Given the description of an element on the screen output the (x, y) to click on. 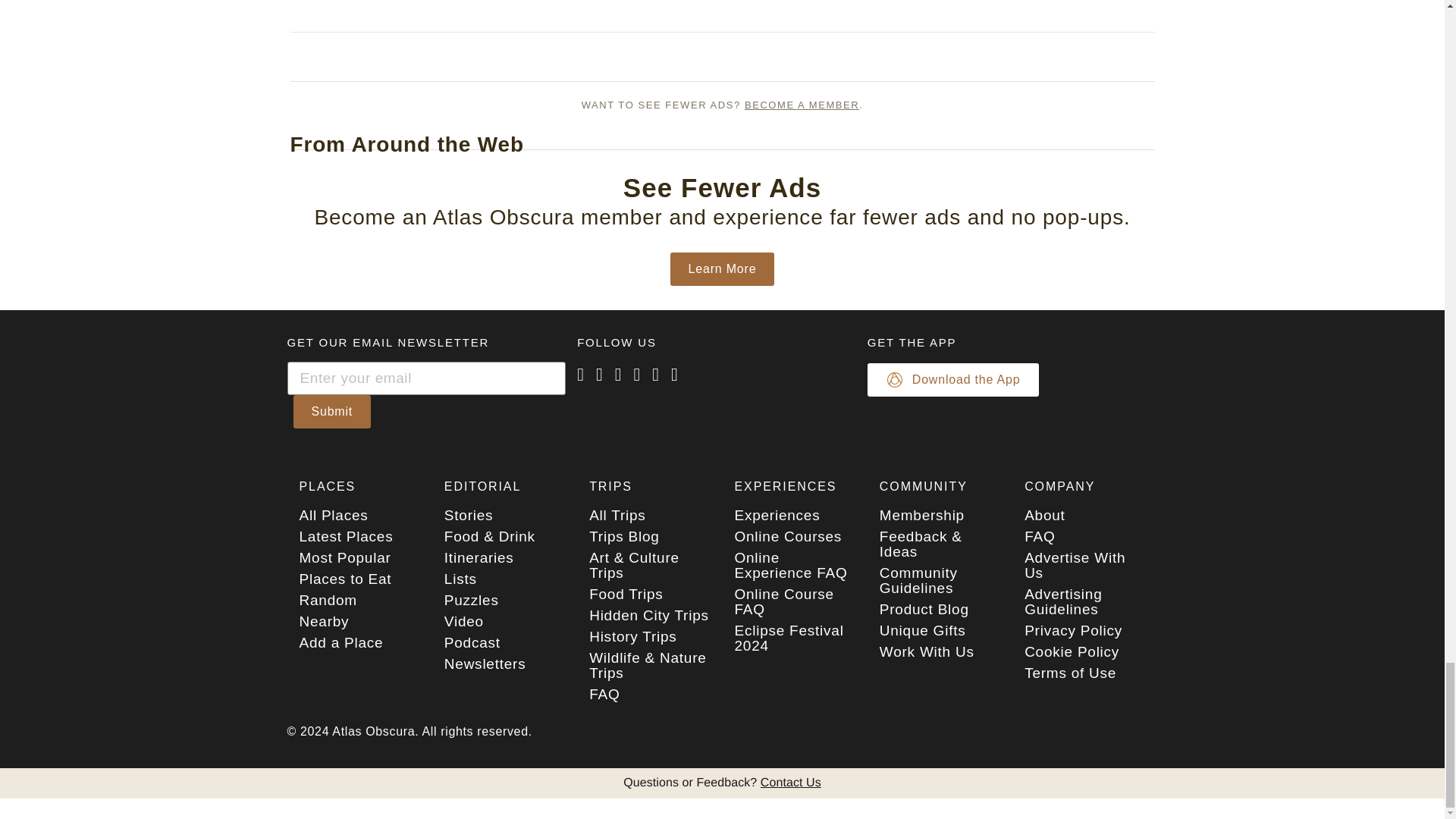
Submit (331, 411)
